Given the description of an element on the screen output the (x, y) to click on. 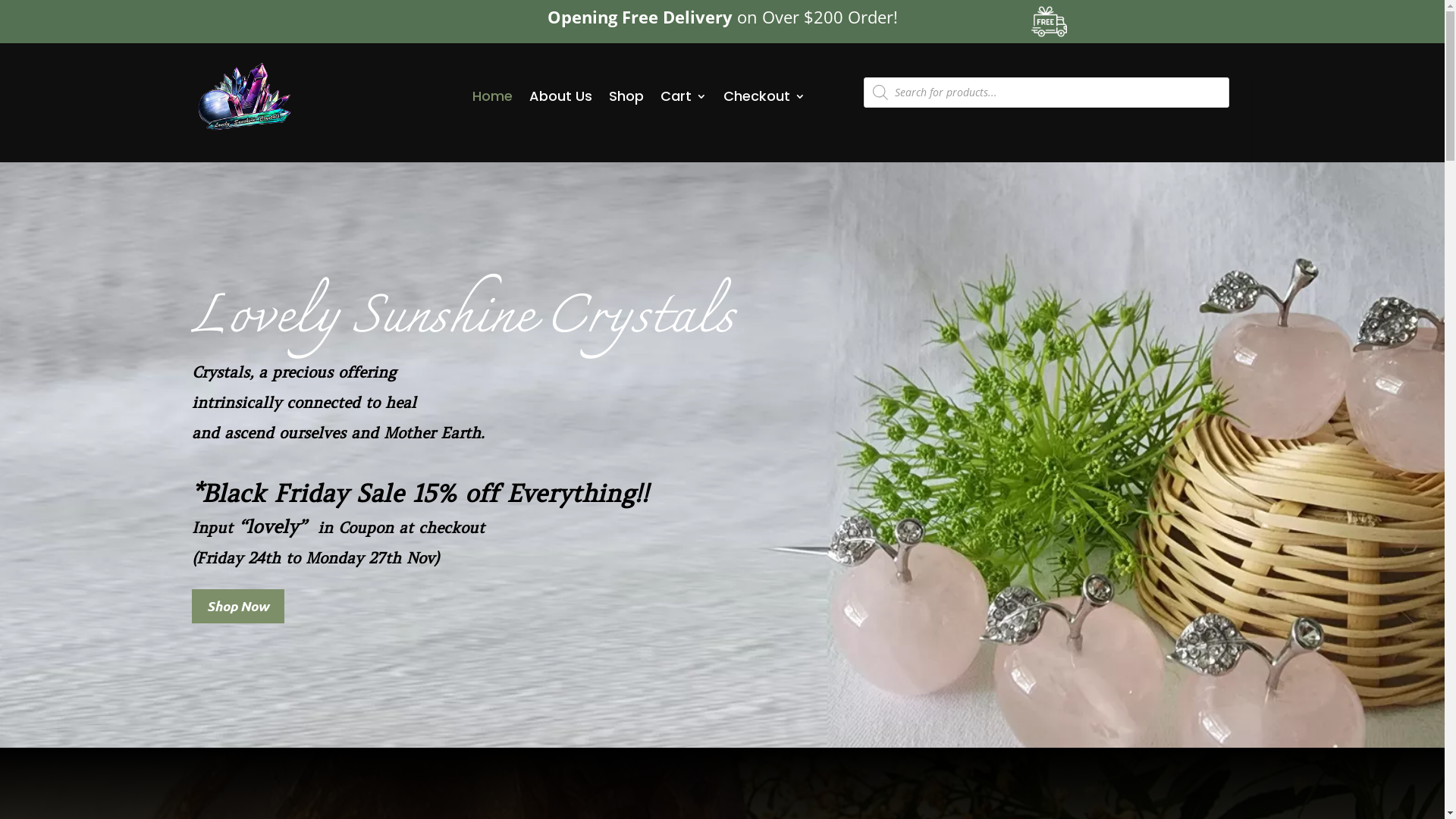
About Us Element type: text (560, 96)
Home Element type: text (492, 96)
free-delivery Element type: hover (1048, 21)
Shop Now Element type: text (237, 606)
Cart Element type: text (683, 96)
Checkout Element type: text (764, 96)
Shop Element type: text (625, 96)
